Given the description of an element on the screen output the (x, y) to click on. 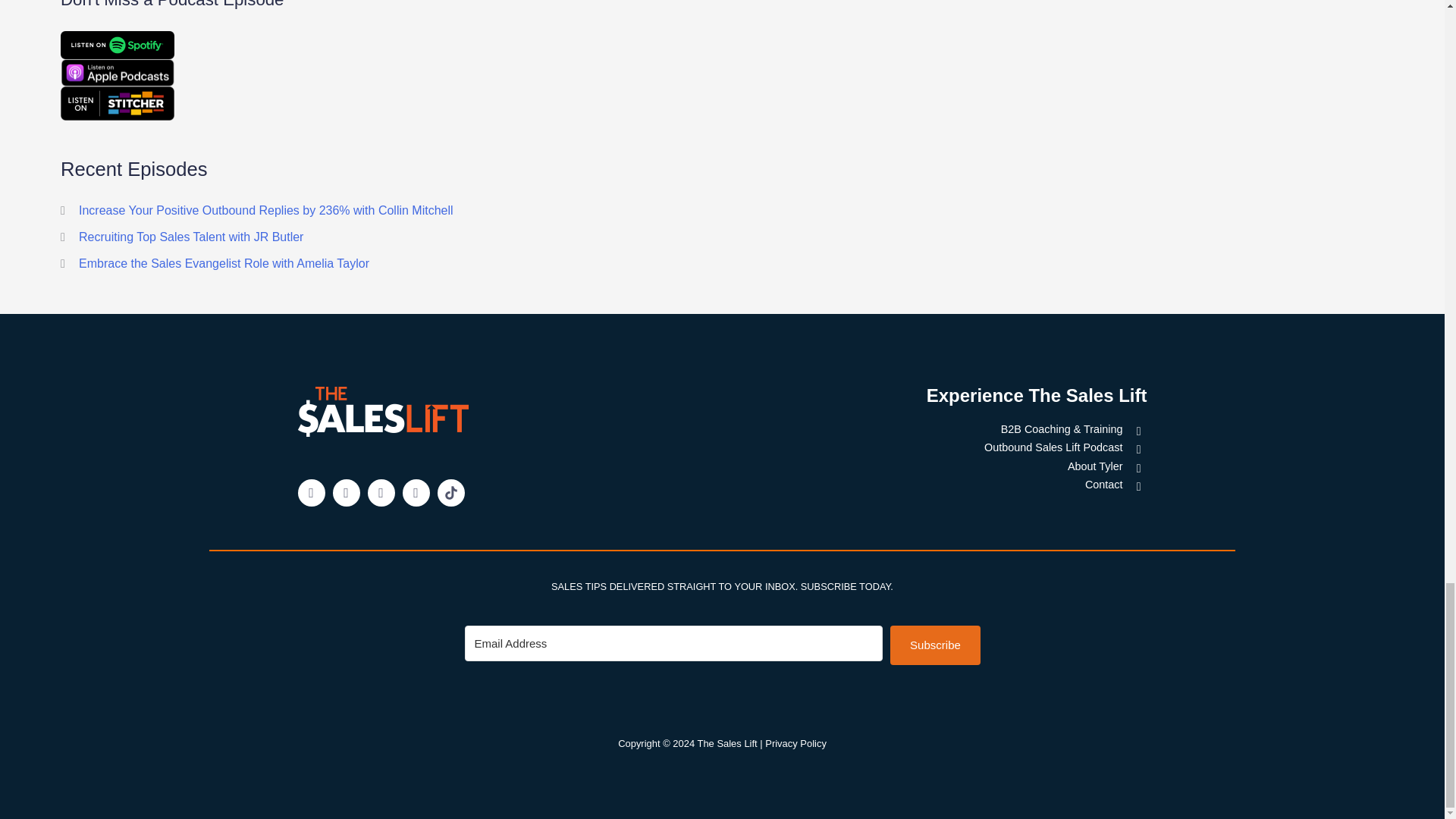
Twitter (345, 492)
Contact (925, 484)
Linkedin (310, 492)
TikTok (450, 492)
Subscribe (934, 645)
Recruiting Top Sales Talent with JR Butler (190, 236)
Embrace the Sales Evangelist Role with Amelia Taylor (223, 263)
Youtube (380, 492)
About Tyler (925, 465)
Outbound Sales Lift Podcast (925, 447)
Instagram (415, 492)
